Given the description of an element on the screen output the (x, y) to click on. 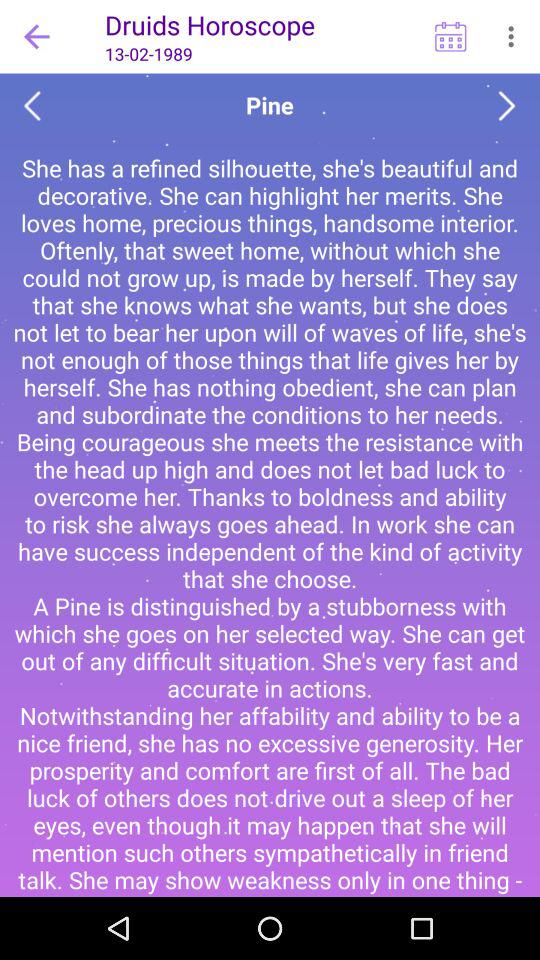
open calendar (450, 36)
